Given the description of an element on the screen output the (x, y) to click on. 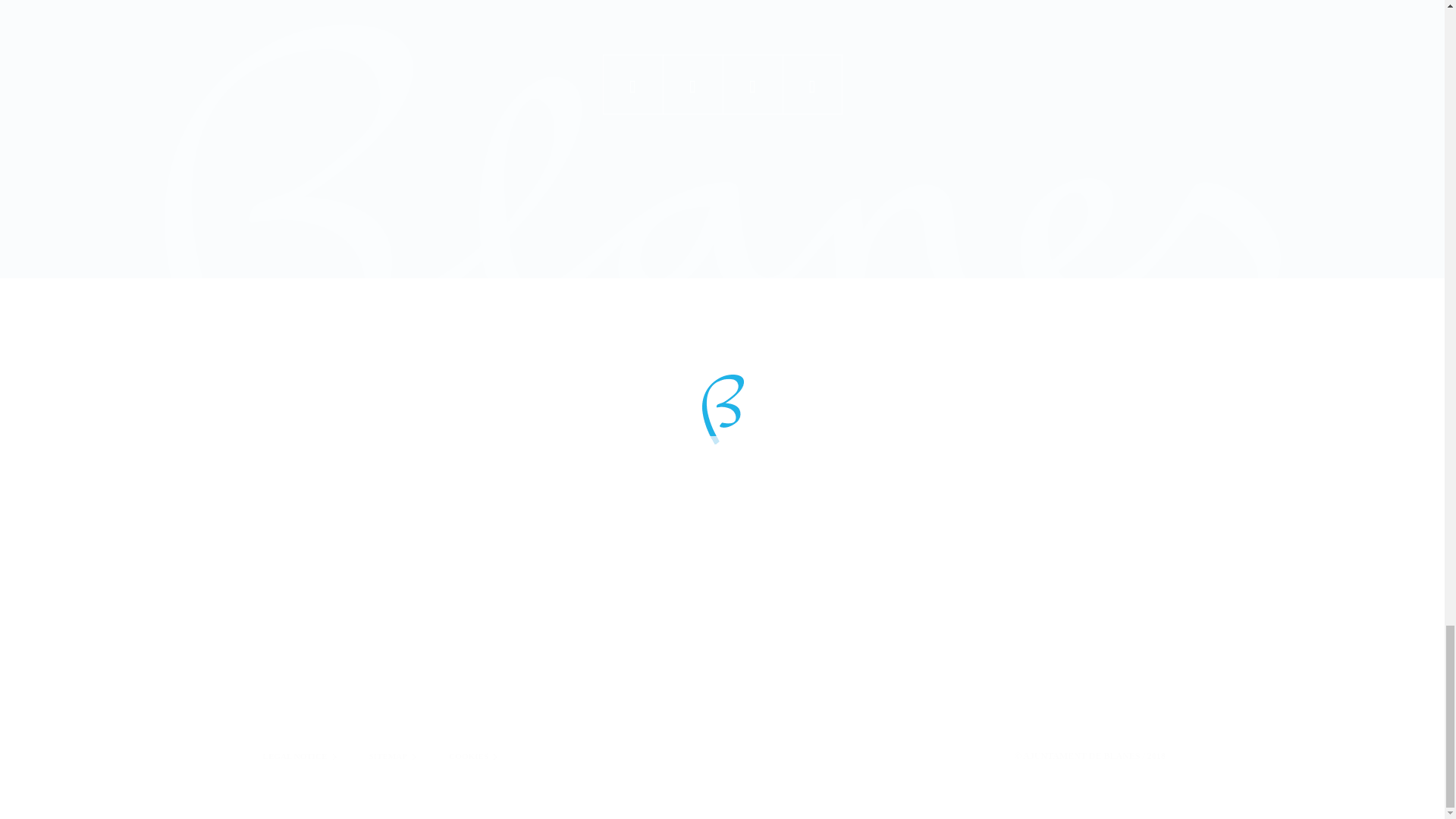
Twitter (692, 84)
Facebook (632, 84)
